Given the description of an element on the screen output the (x, y) to click on. 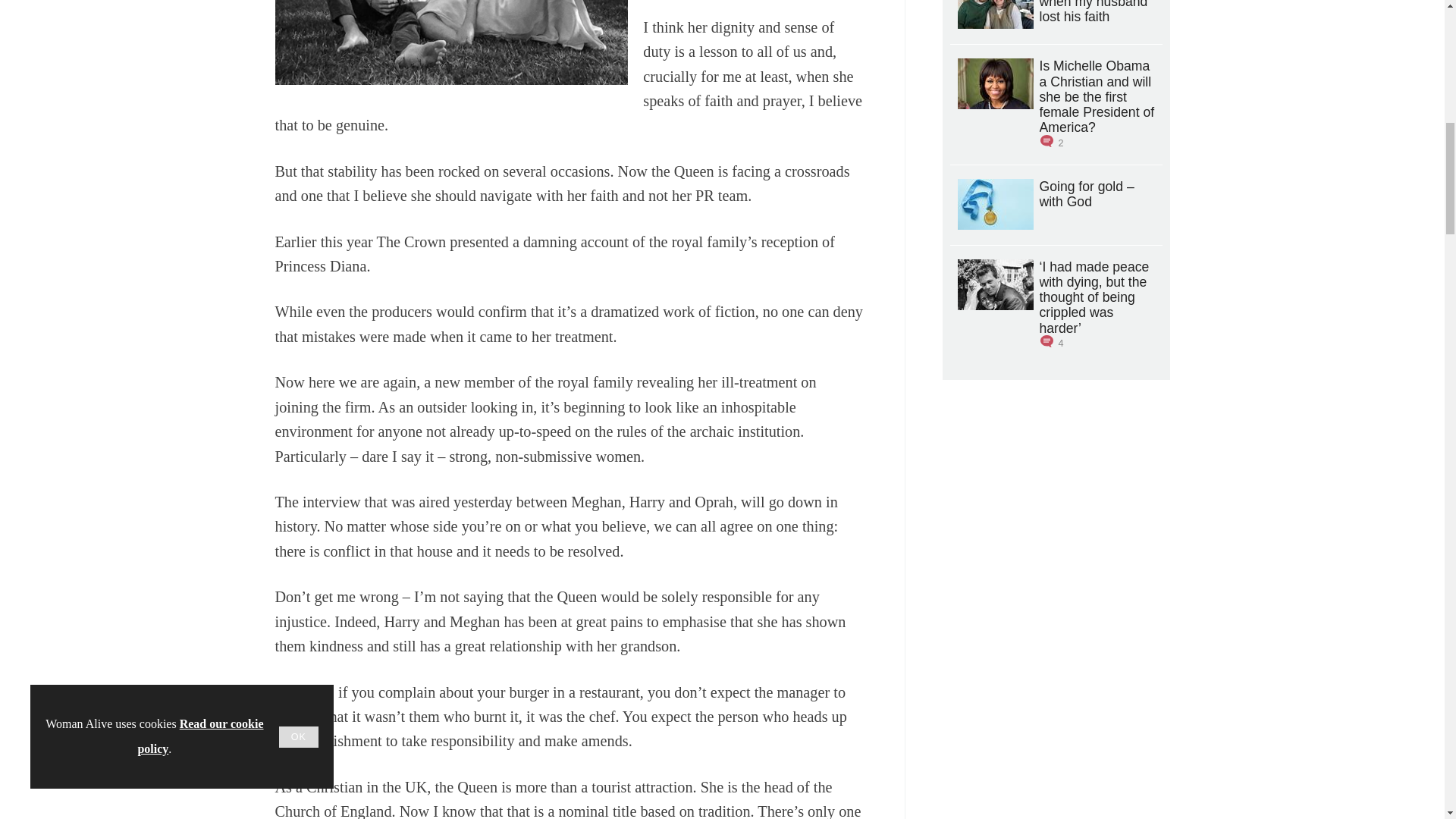
3rd party ad content (1055, 511)
